Given the description of an element on the screen output the (x, y) to click on. 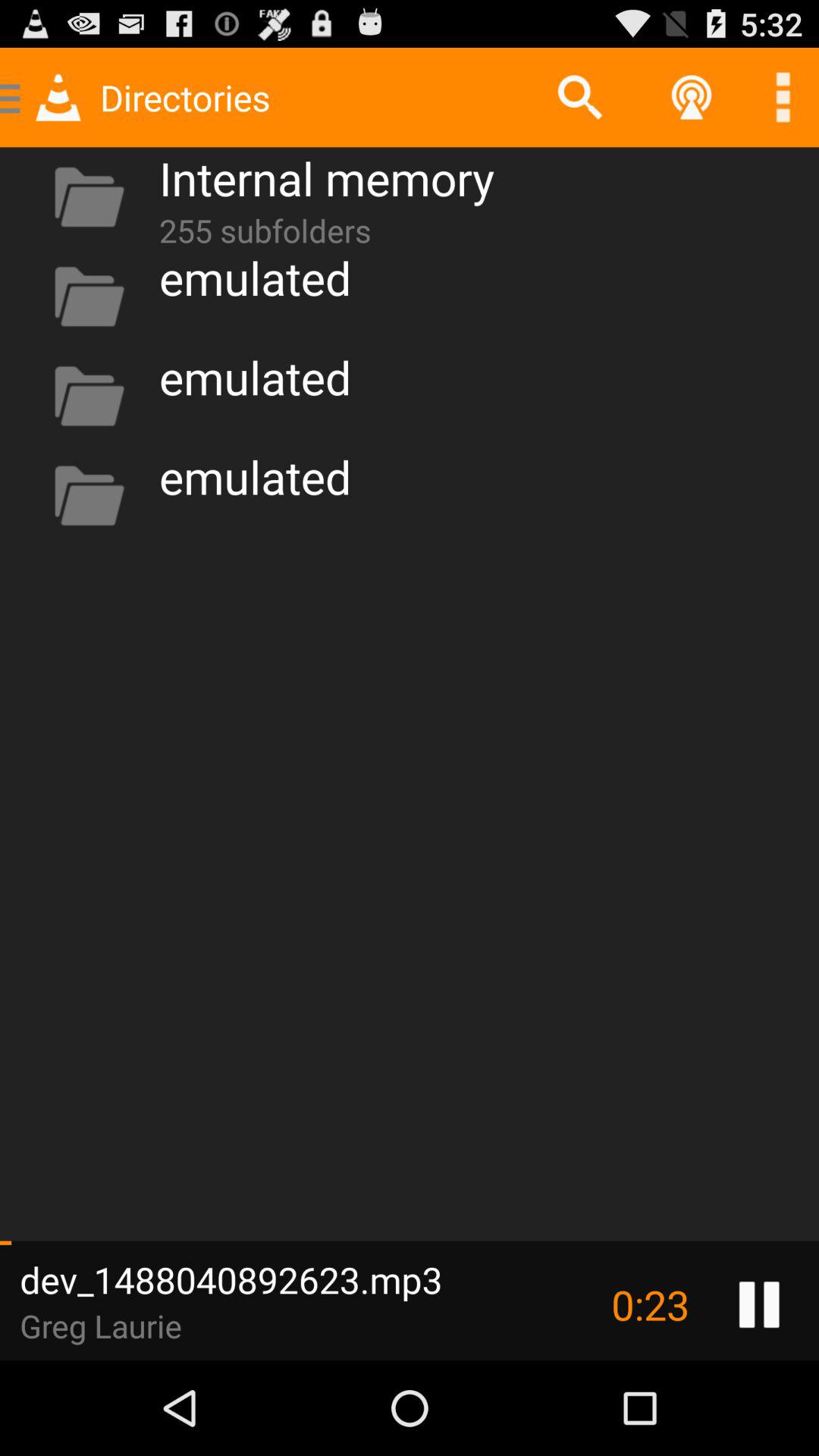
turn on app next to dev_1488040892623.mp3 item (650, 1304)
